Given the description of an element on the screen output the (x, y) to click on. 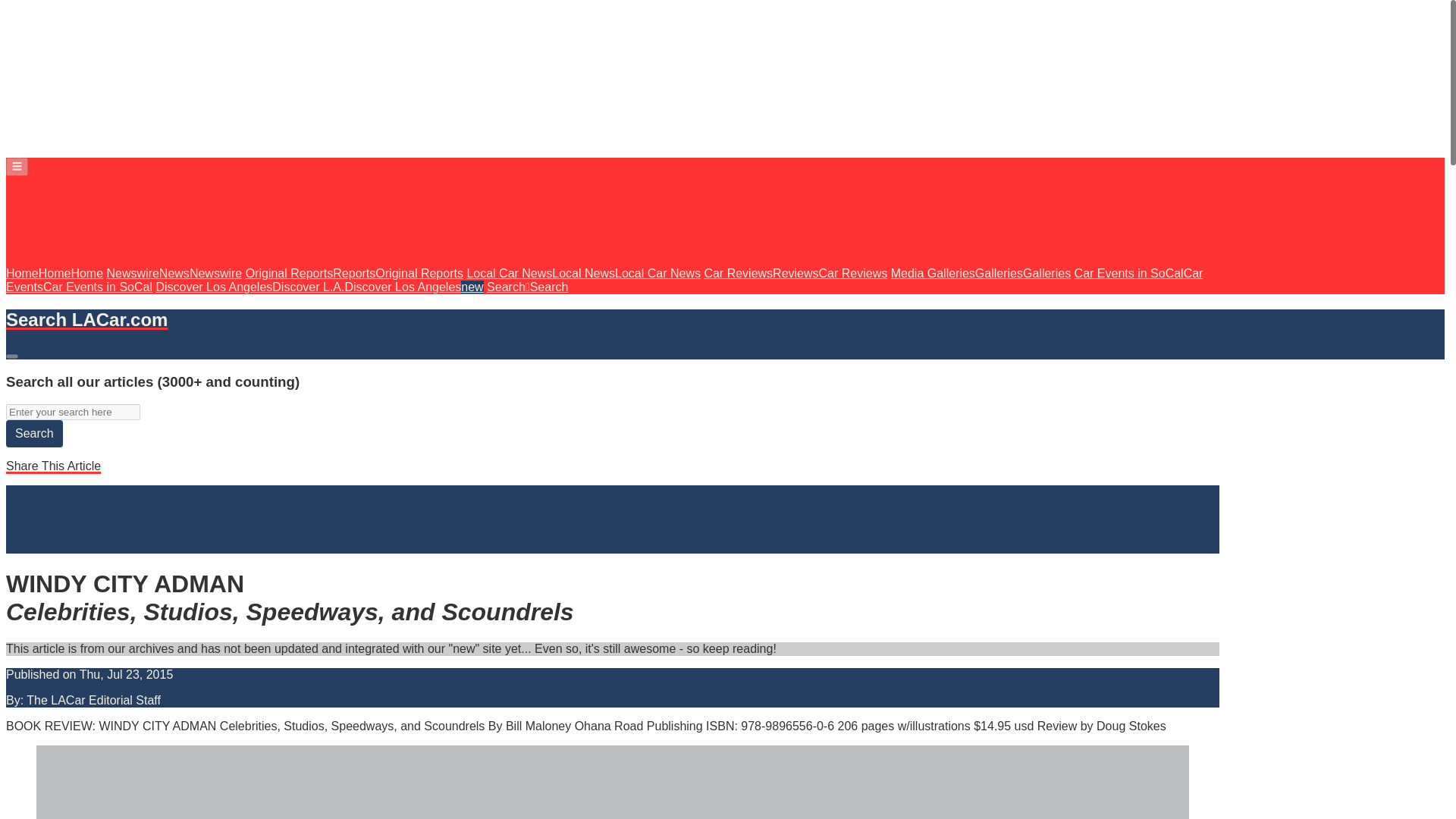
Original ReportsReportsOriginal Reports (354, 273)
Media GalleriesGalleriesGalleries (980, 273)
Discover Los AngelesDiscover L.A.Discover Los Angelesnew (319, 286)
0-windy-city-adman-255 (612, 782)
HomeHomeHome (54, 273)
Search (33, 433)
NewswireNewsNewswire (174, 273)
Car Events in SoCalCar EventsCar Events in SoCal (603, 279)
Local Car NewsLocal NewsLocal Car News (582, 273)
Car ReviewsReviewsCar Reviews (794, 273)
